Given the description of an element on the screen output the (x, y) to click on. 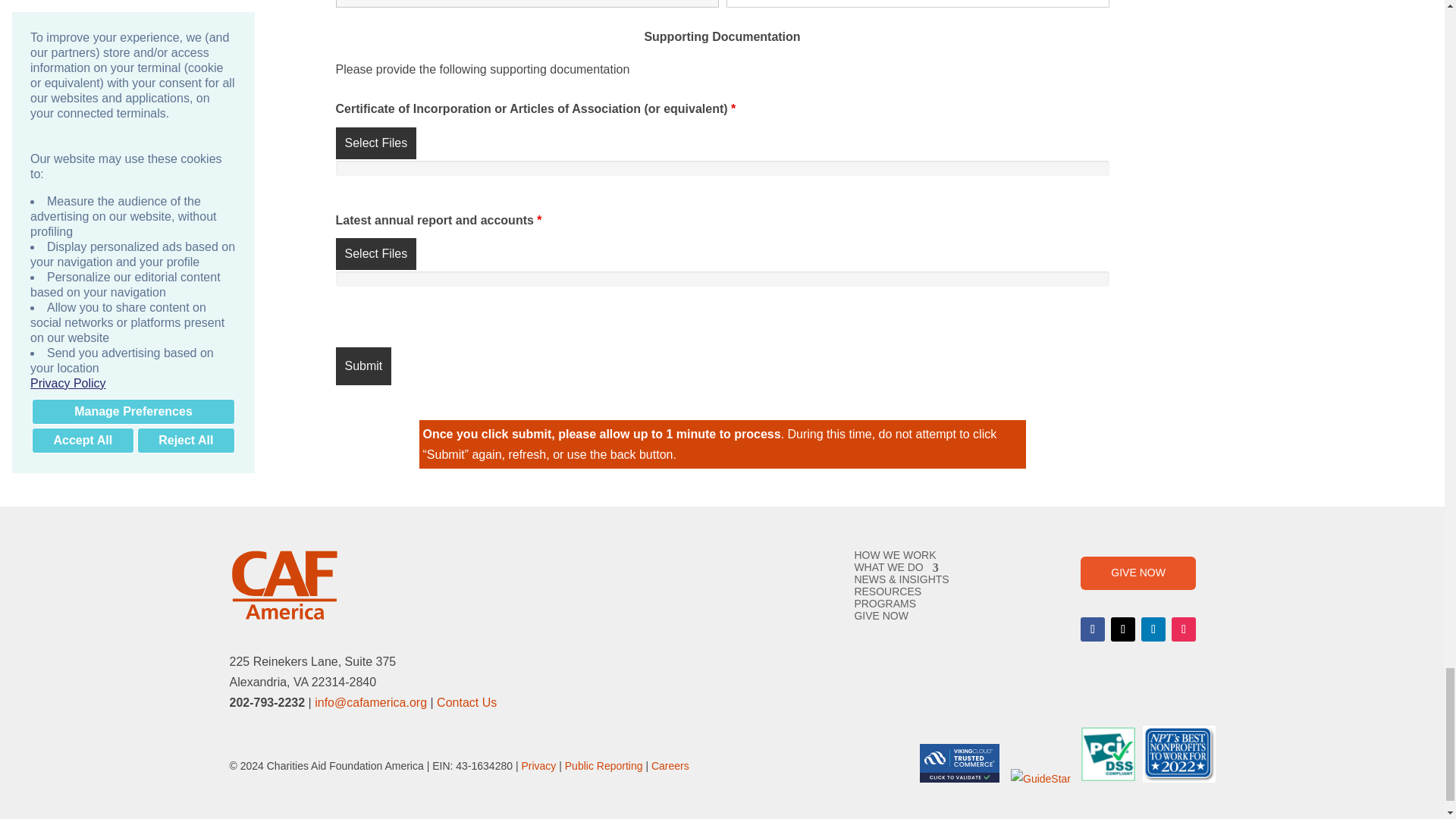
Follow on X (1122, 629)
Follow on Facebook (1092, 629)
CAFamerica-logo (283, 585)
Follow on LinkedIn (1153, 629)
Follow on Instagram (1183, 629)
